Given the description of an element on the screen output the (x, y) to click on. 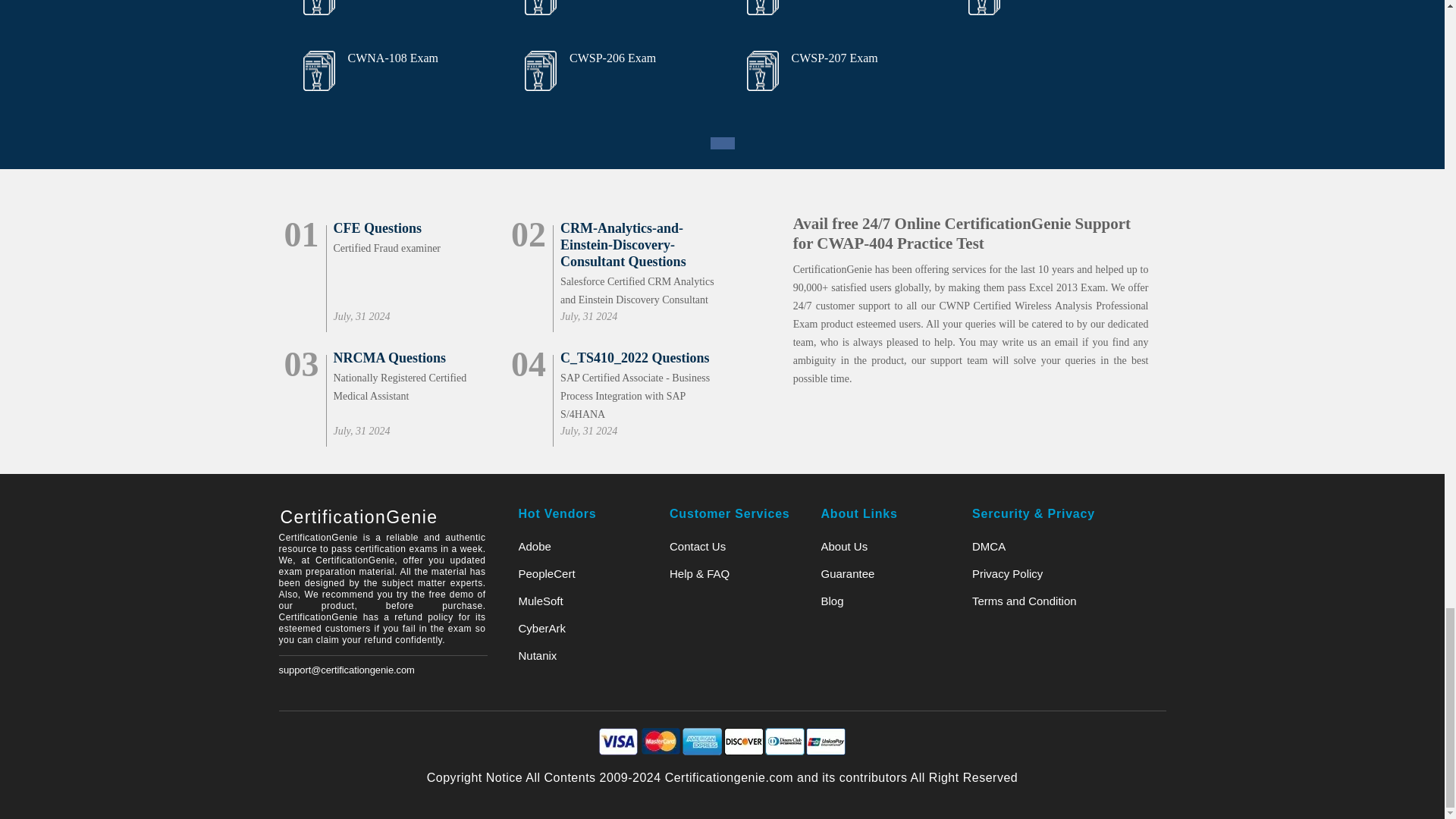
1 (721, 143)
CFE Questions (416, 228)
